Given the description of an element on the screen output the (x, y) to click on. 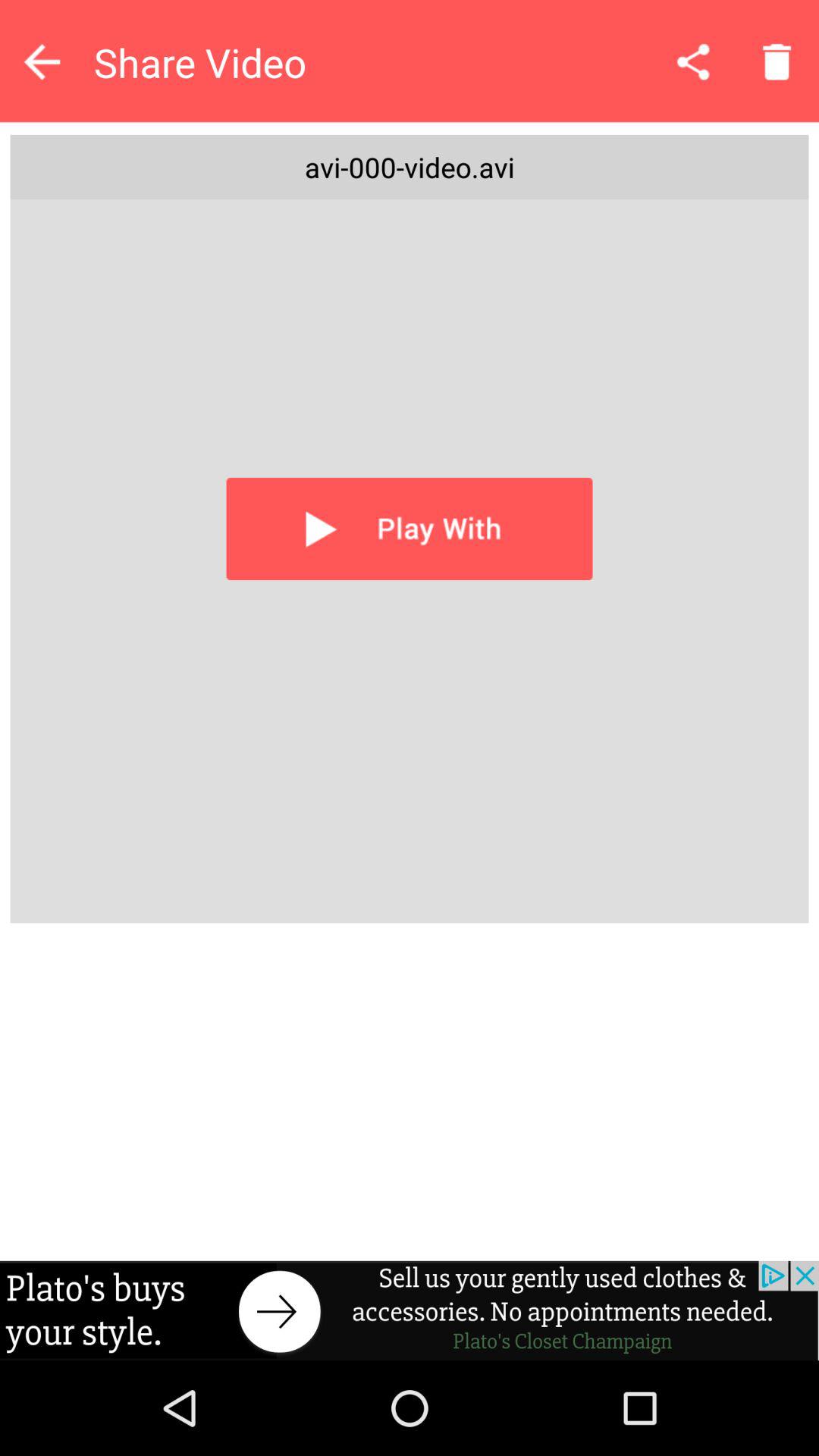
advertisement banner (409, 1310)
